Given the description of an element on the screen output the (x, y) to click on. 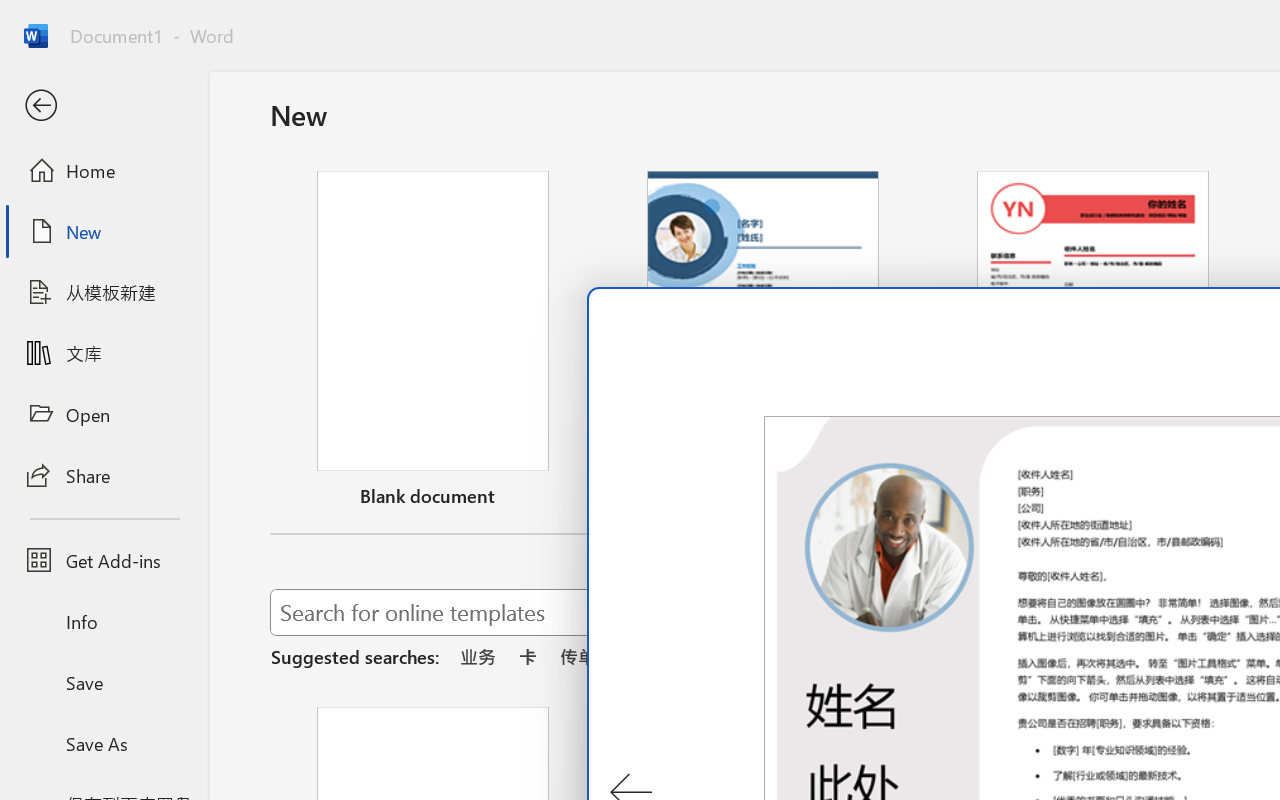
Content rating (964, 729)
Privacy Checkup (1033, 22)
Games (248, 132)
